Given the description of an element on the screen output the (x, y) to click on. 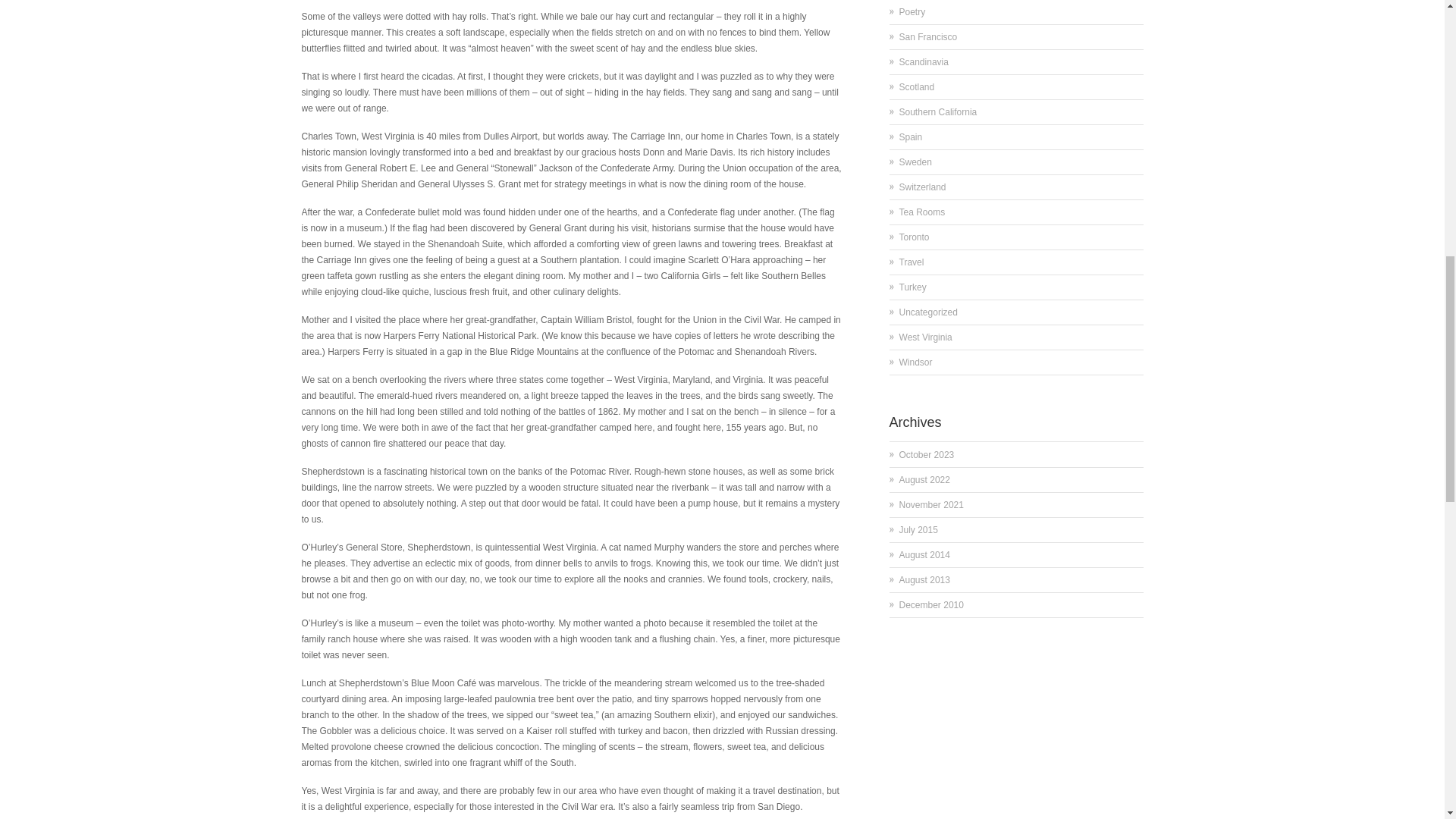
Poetry (912, 11)
Tea Rooms (921, 212)
Spain (911, 136)
San Francisco (928, 36)
Switzerland (922, 186)
Scotland (916, 86)
Scandinavia (924, 61)
Sweden (915, 162)
Southern California (937, 112)
